Given the description of an element on the screen output the (x, y) to click on. 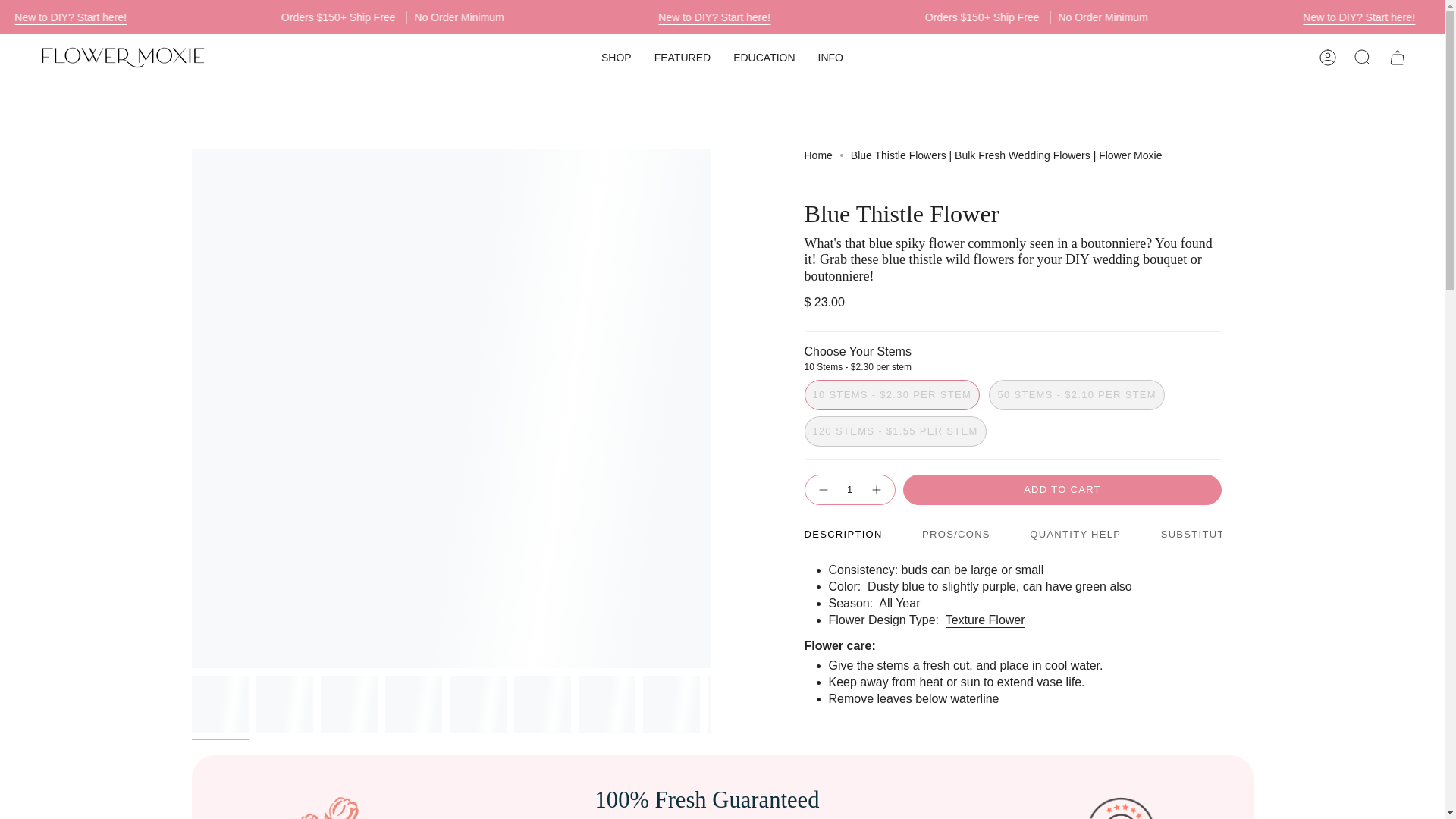
Decrease button quantity - Blue Thistle Flower (821, 490)
New to DIY? Start here! (811, 18)
New to DIY? Start here! (168, 18)
SHOP (616, 57)
1 (849, 490)
